Given the description of an element on the screen output the (x, y) to click on. 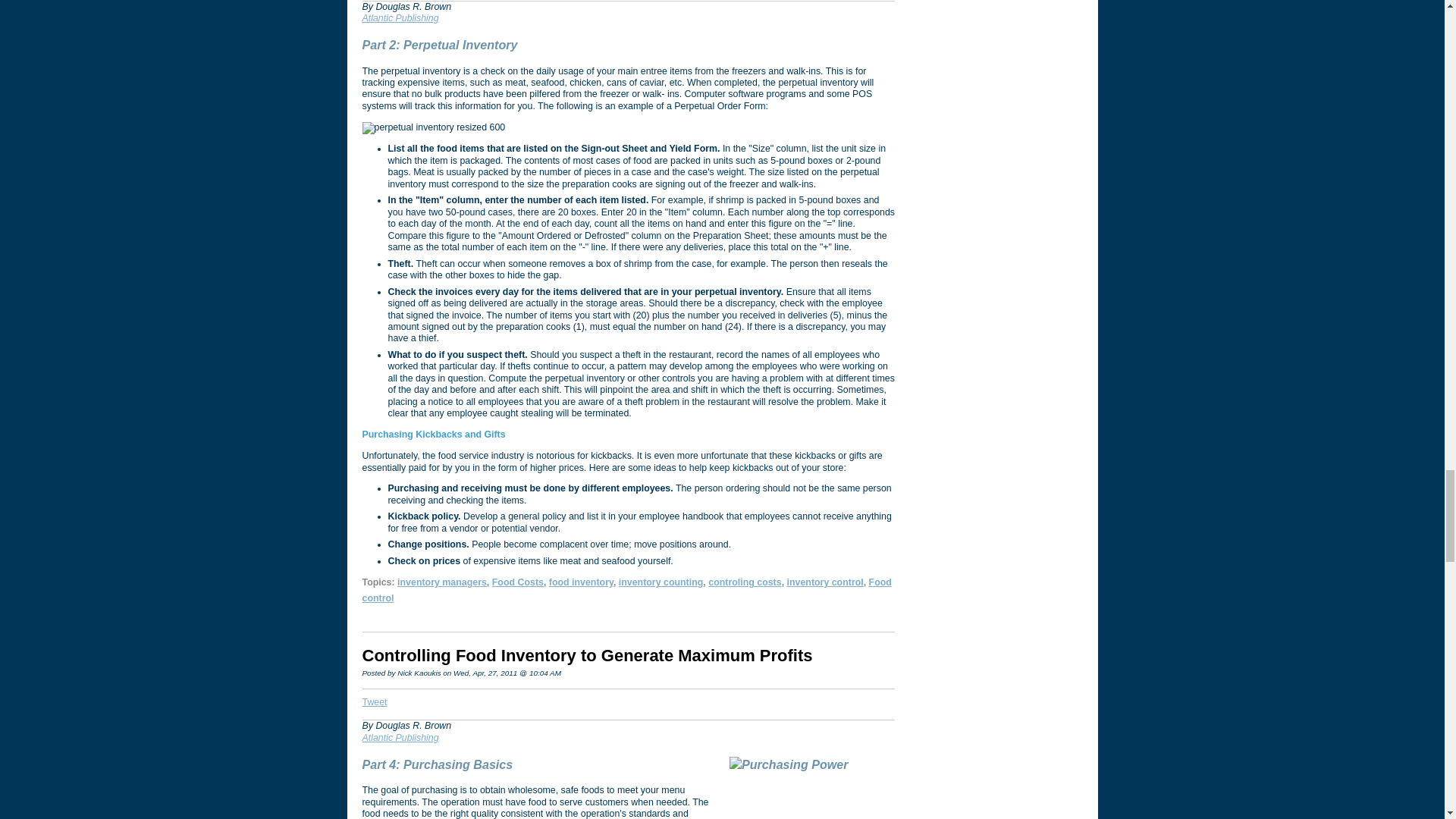
Atlantic Publishing (400, 737)
Atlantic Publishing (400, 18)
